Given the description of an element on the screen output the (x, y) to click on. 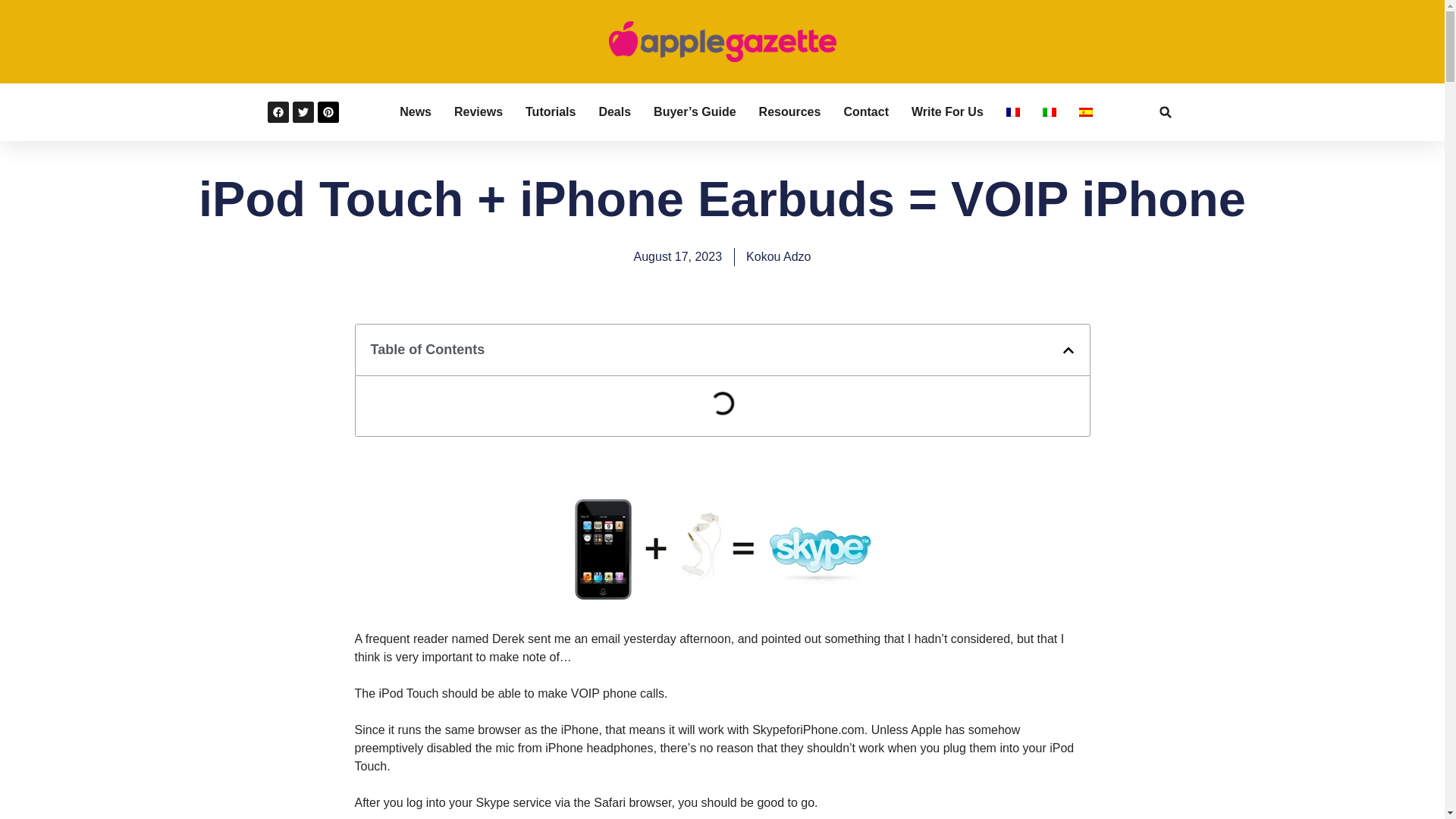
ipodtouchphone.jpg (721, 602)
News (414, 112)
Contact (865, 112)
Reviews (478, 112)
Tutorials (550, 112)
Deals (614, 112)
Write For Us (947, 112)
Resources (789, 112)
